Given the description of an element on the screen output the (x, y) to click on. 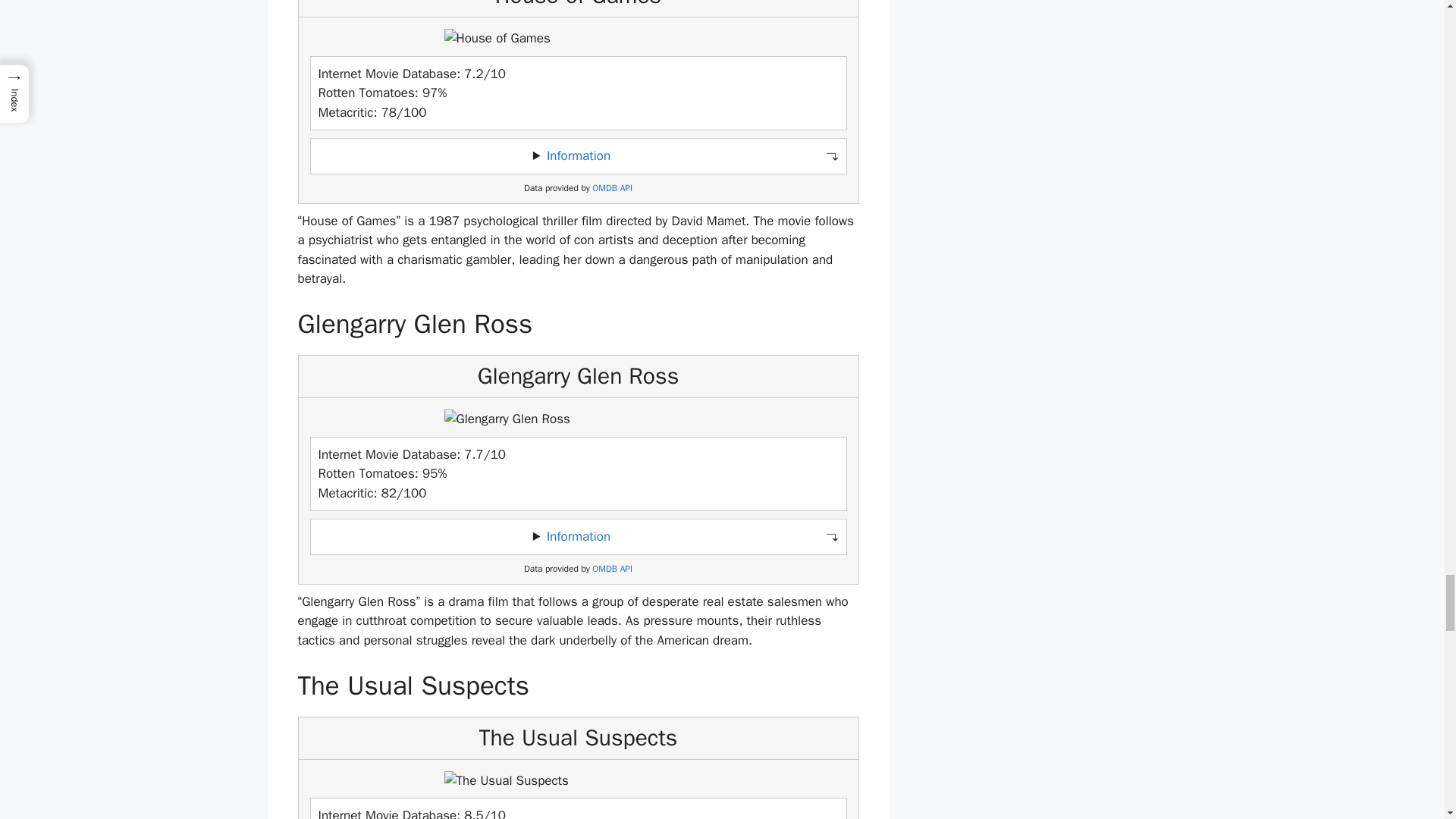
Information (578, 536)
OMDB API (611, 188)
Information (578, 155)
OMDB API (611, 568)
